Given the description of an element on the screen output the (x, y) to click on. 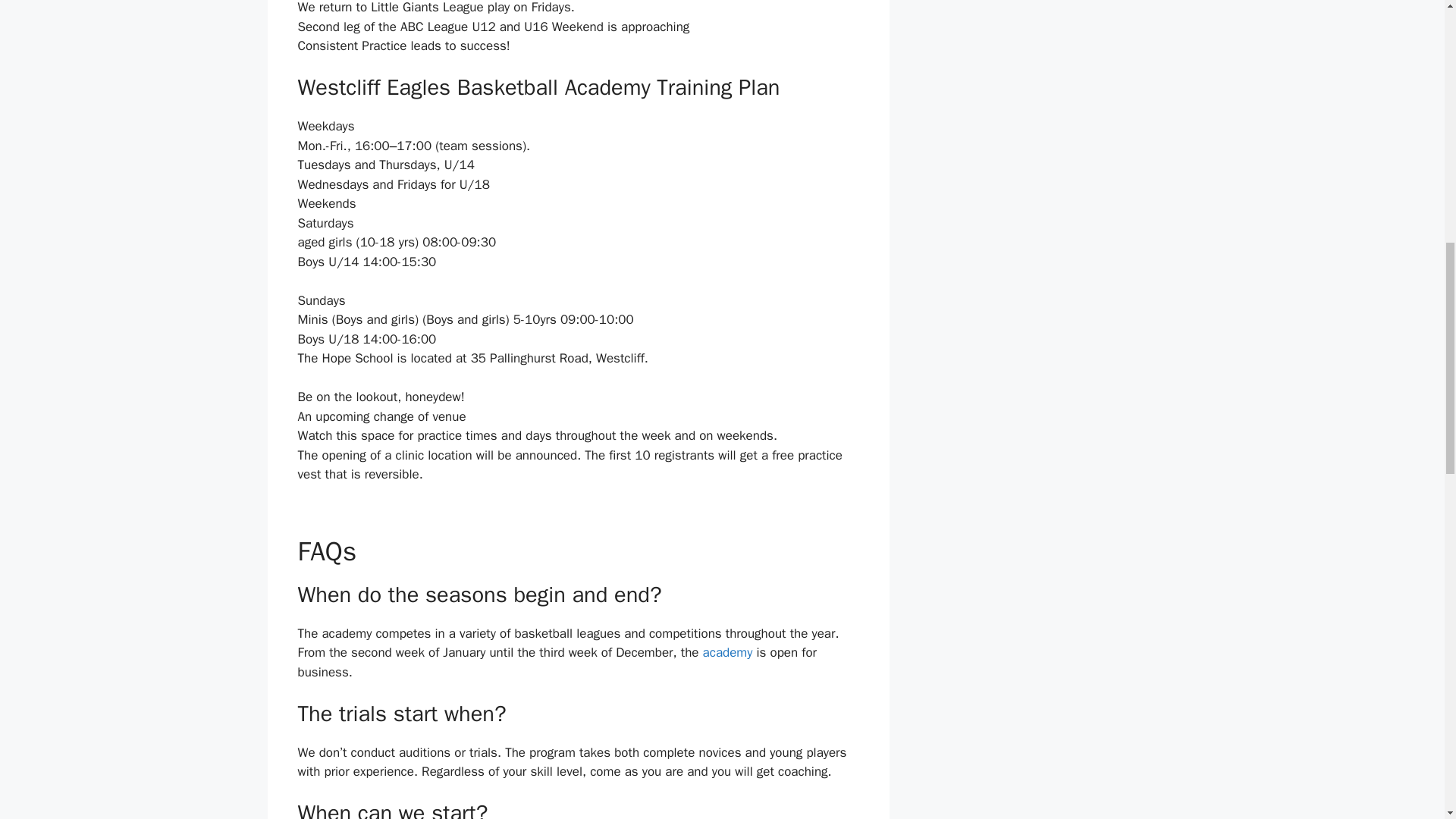
academy (727, 652)
